Given the description of an element on the screen output the (x, y) to click on. 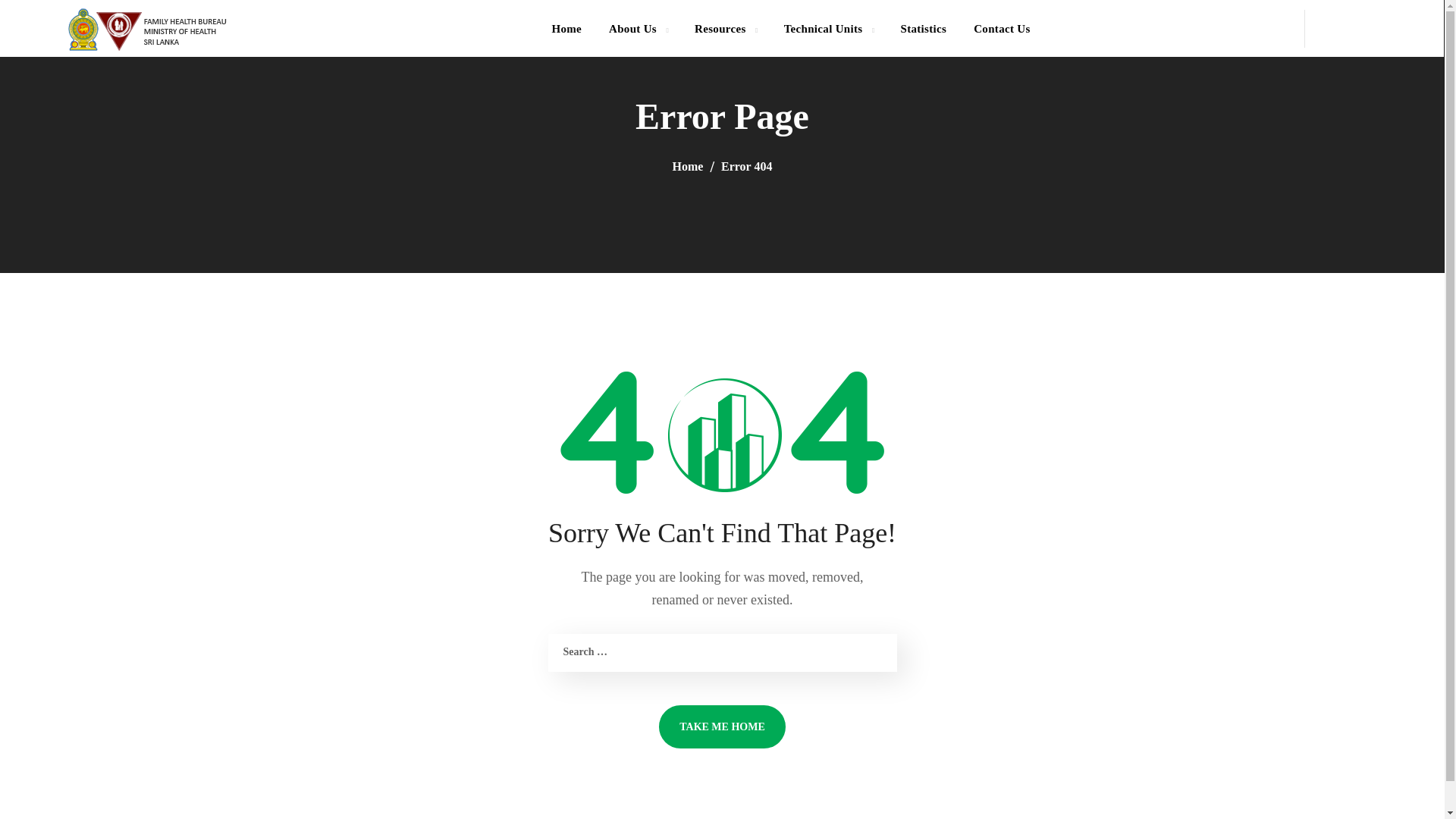
About Us (638, 28)
Home (566, 28)
Resources (725, 28)
Contact Us (1001, 28)
Search (1381, 94)
Statistics (922, 28)
Technical Units (828, 28)
FHBlogo11 (146, 28)
